Given the description of an element on the screen output the (x, y) to click on. 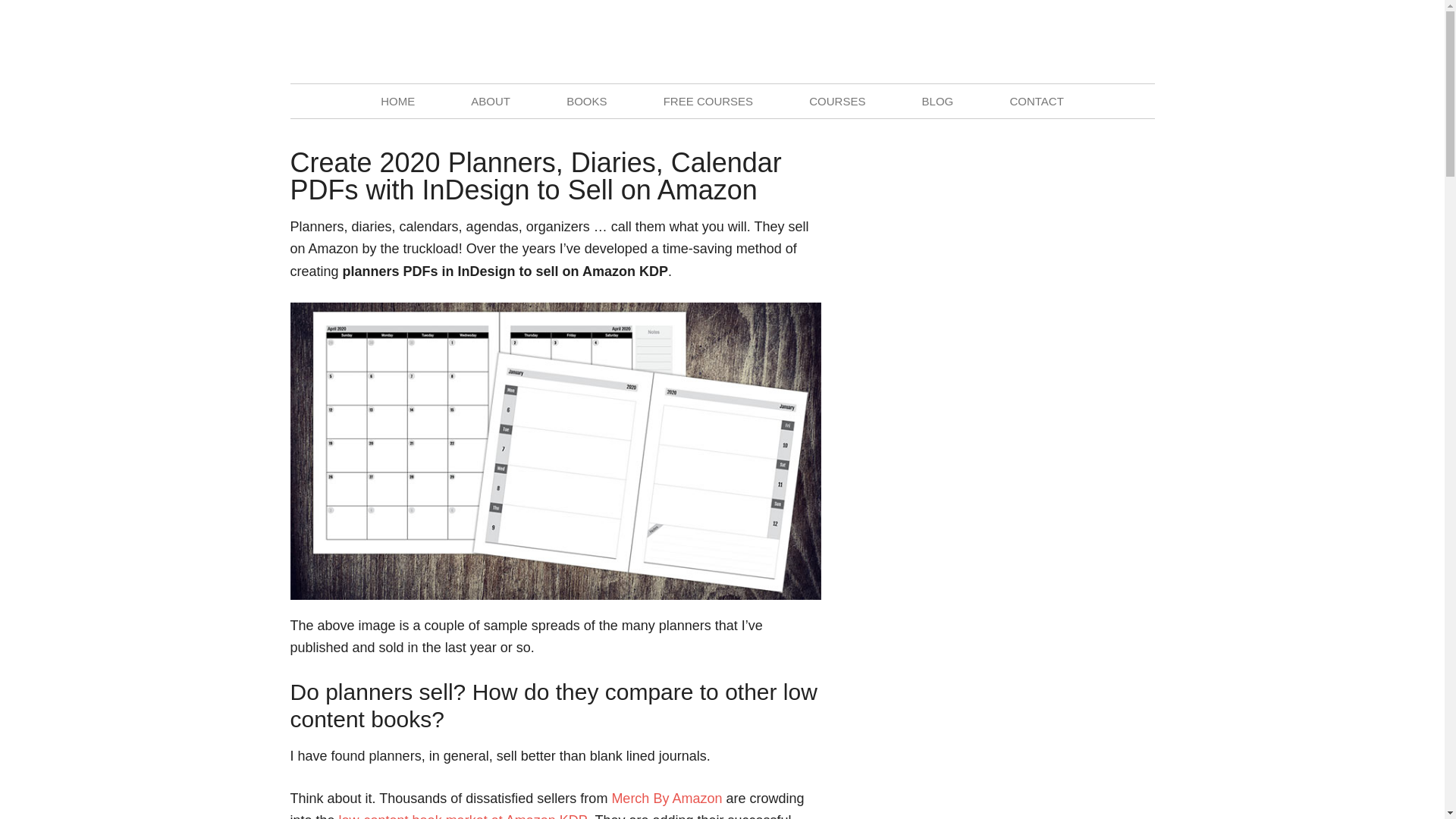
FREE COURSES (707, 100)
BLOG (937, 100)
YouTube (1142, 41)
CONTACT (1035, 100)
YouTube (1142, 41)
ABOUT (490, 100)
HOME (397, 100)
Merch By Amazon (666, 797)
Twitter (1109, 41)
BOOKS (586, 100)
low-content book market at Amazon KDP (463, 816)
Twitter (1109, 41)
COURSES (837, 100)
